Given the description of an element on the screen output the (x, y) to click on. 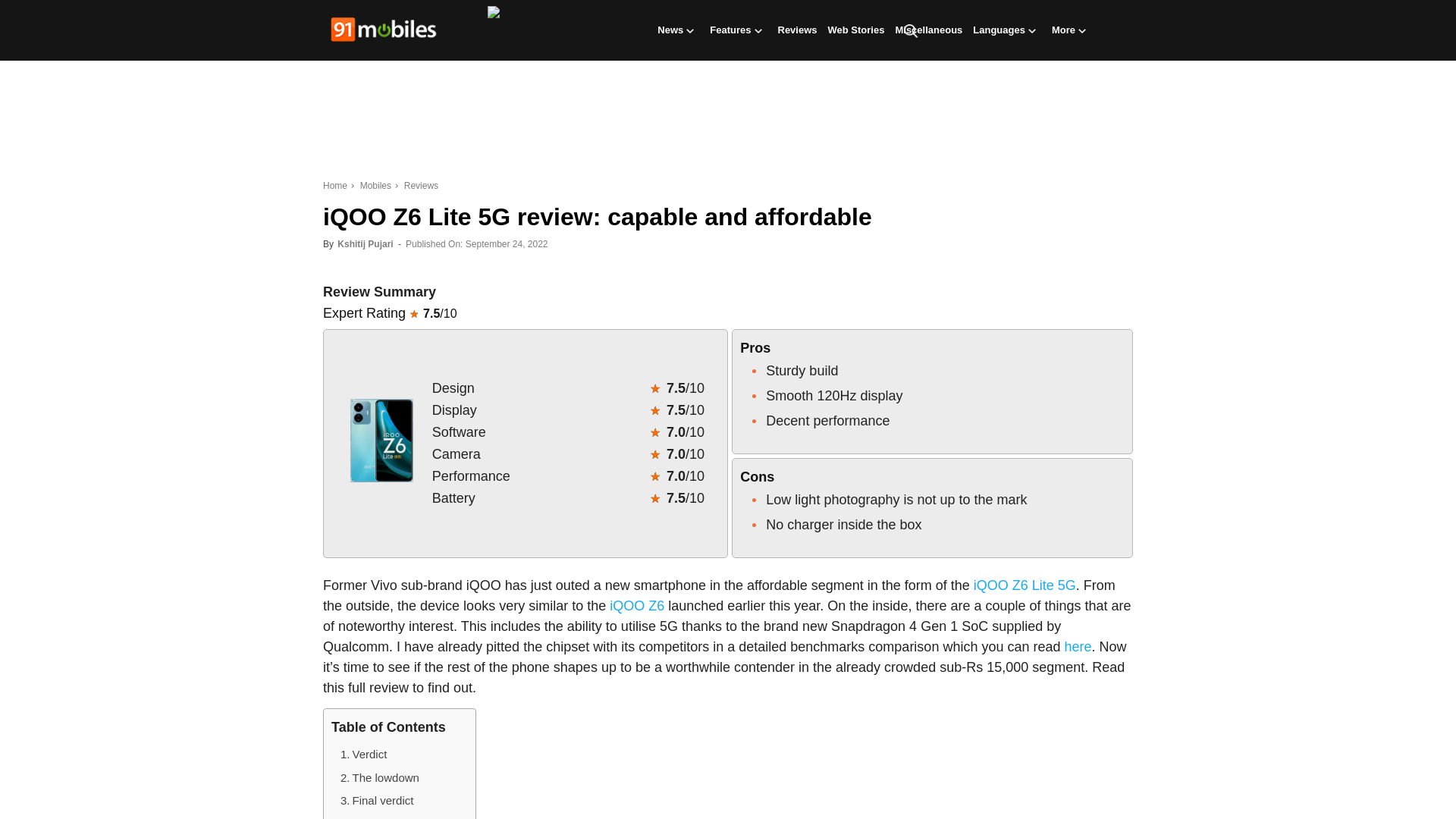
Verdict (363, 754)
View all posts in Reviews (419, 185)
91mobiles (383, 31)
Search (1091, 102)
View all posts in Mobiles (374, 185)
